Given the description of an element on the screen output the (x, y) to click on. 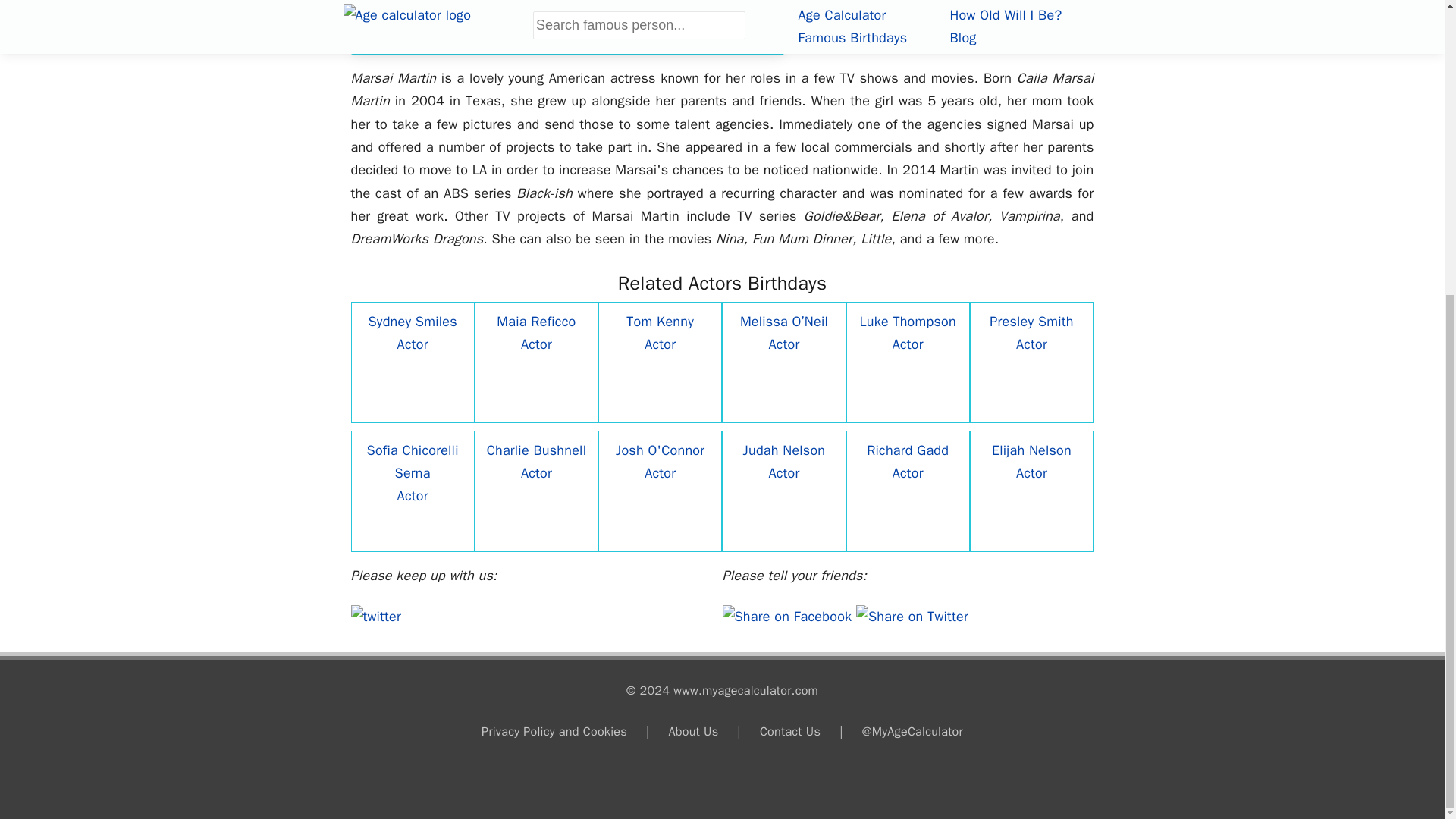
Contact Us (790, 730)
About Us (692, 730)
My Age Calculator Twitter (375, 616)
Privacy Policy and Cookies (554, 730)
